Given the description of an element on the screen output the (x, y) to click on. 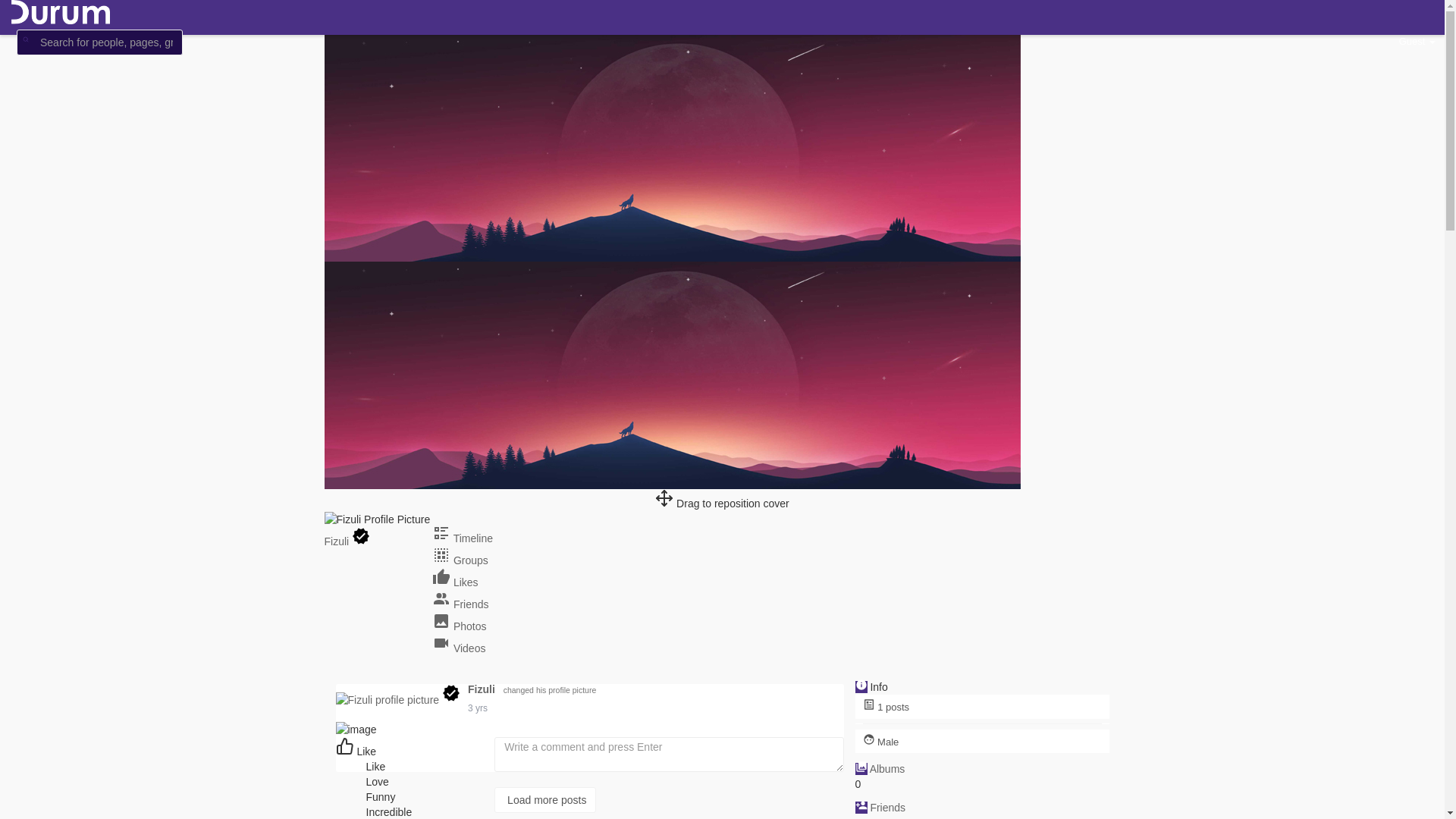
Verified User Element type: hover (451, 693)
0 Element type: text (429, 796)
Photos Element type: text (459, 626)
Like Element type: text (355, 751)
3 yrs Element type: text (477, 707)
Likes Element type: text (455, 582)
Groups Element type: text (460, 560)
Timeline Element type: text (462, 538)
0 Element type: text (429, 766)
Fizuli Element type: text (338, 541)
Friends Element type: text (460, 604)
 Load more posts Element type: text (589, 799)
Friends Element type: text (887, 807)
Albums Element type: text (887, 768)
Guest Element type: text (1417, 41)
Fizuli Element type: text (483, 689)
Verified User Element type: hover (360, 536)
Videos Element type: text (458, 648)
0 Element type: text (429, 781)
